Given the description of an element on the screen output the (x, y) to click on. 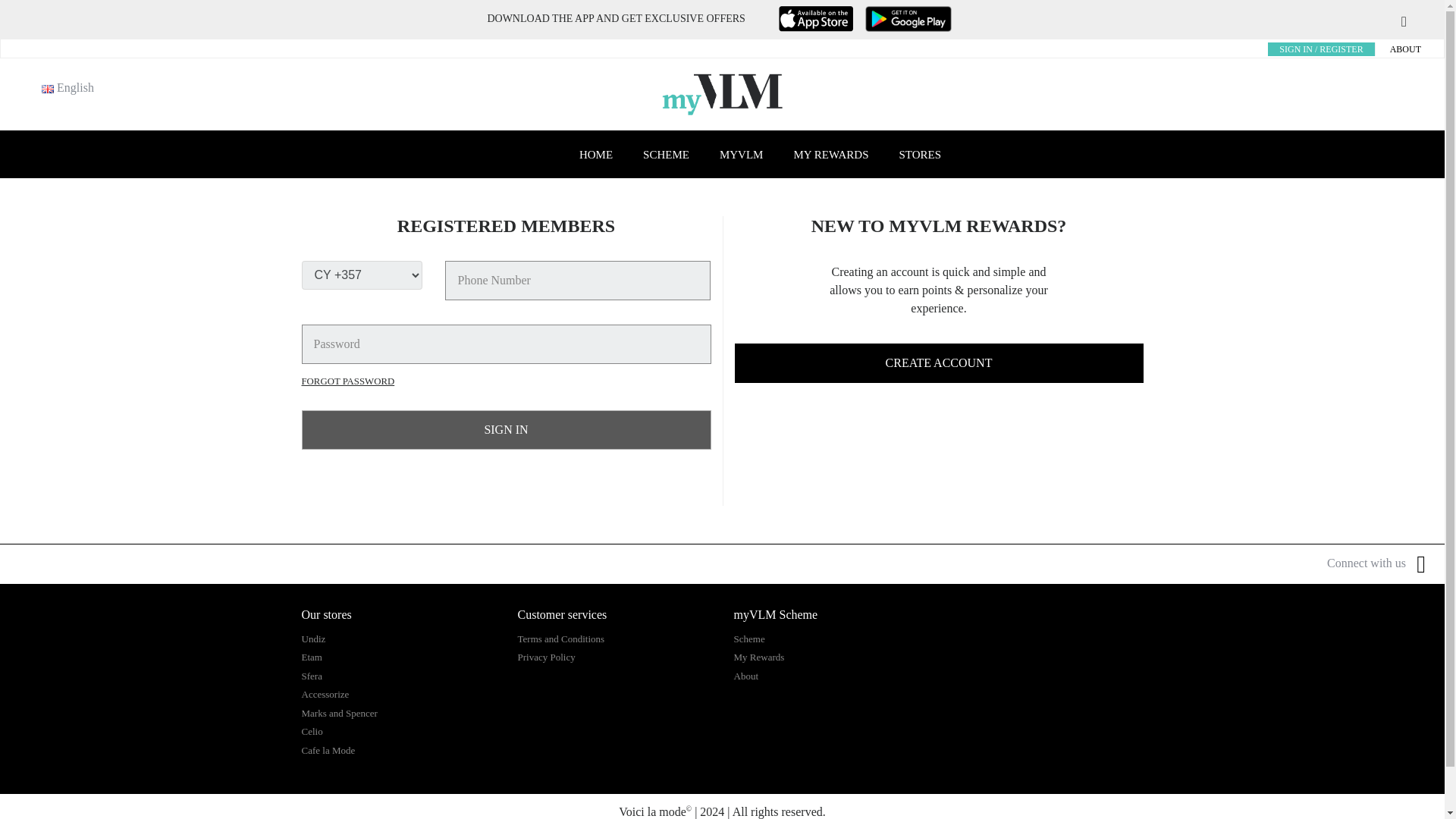
MY REWARDS (830, 155)
Etam (311, 656)
Terms and Conditions (560, 638)
English (47, 89)
Undiz (313, 638)
Accessorize (325, 694)
ABOUT (1405, 49)
Sfera (311, 675)
Cafe la Mode (328, 749)
STORES (919, 155)
HOME (595, 155)
Celio (312, 731)
MYVLM (741, 155)
SCHEME (665, 155)
Privacy Policy (545, 656)
